Given the description of an element on the screen output the (x, y) to click on. 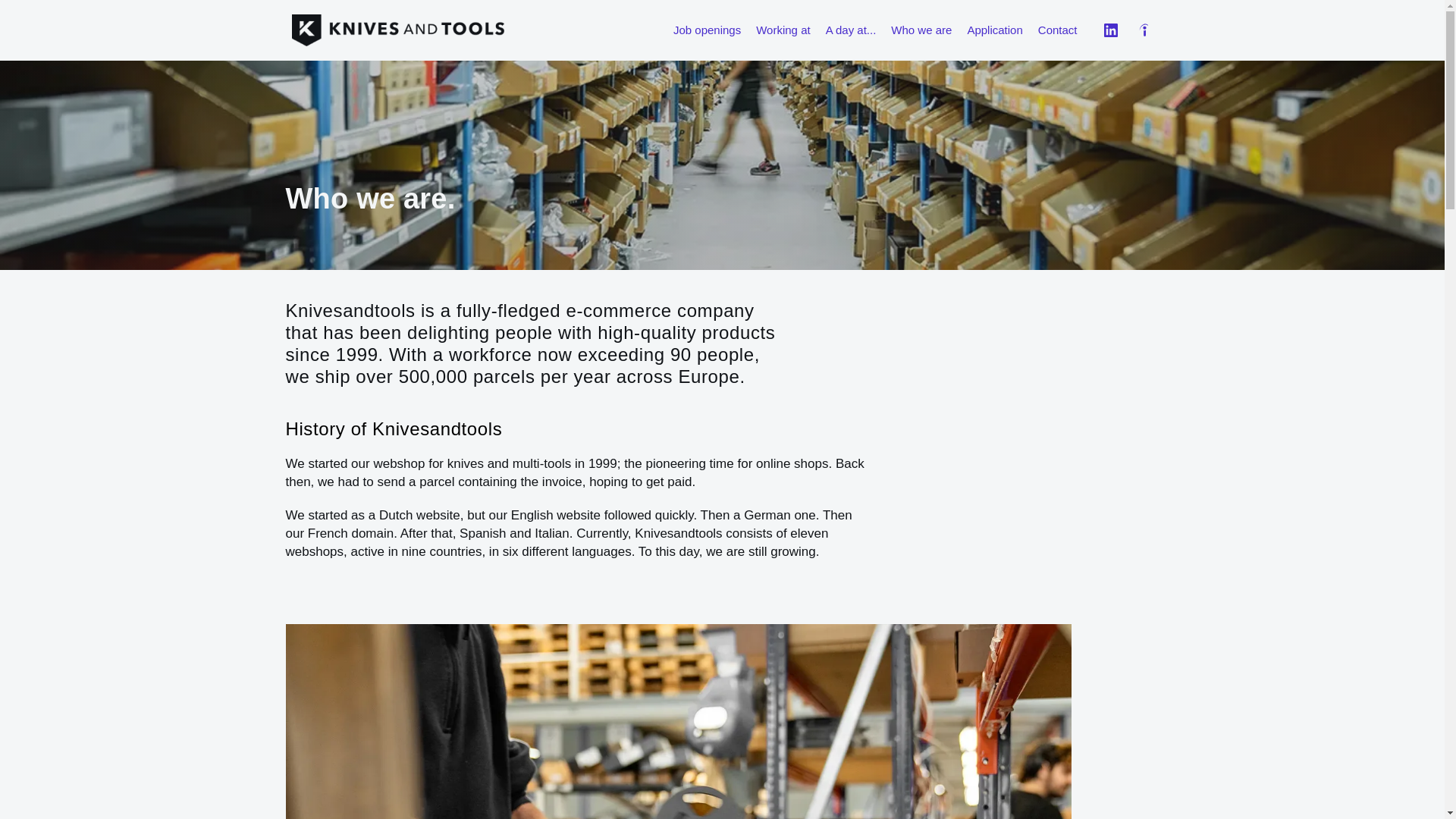
Application (993, 29)
Homepage (397, 30)
Job openings (706, 29)
Working at (782, 29)
A day at... (850, 29)
Who we are (921, 29)
Contact (1057, 29)
linkedin (1109, 30)
indeed (1143, 30)
